Given the description of an element on the screen output the (x, y) to click on. 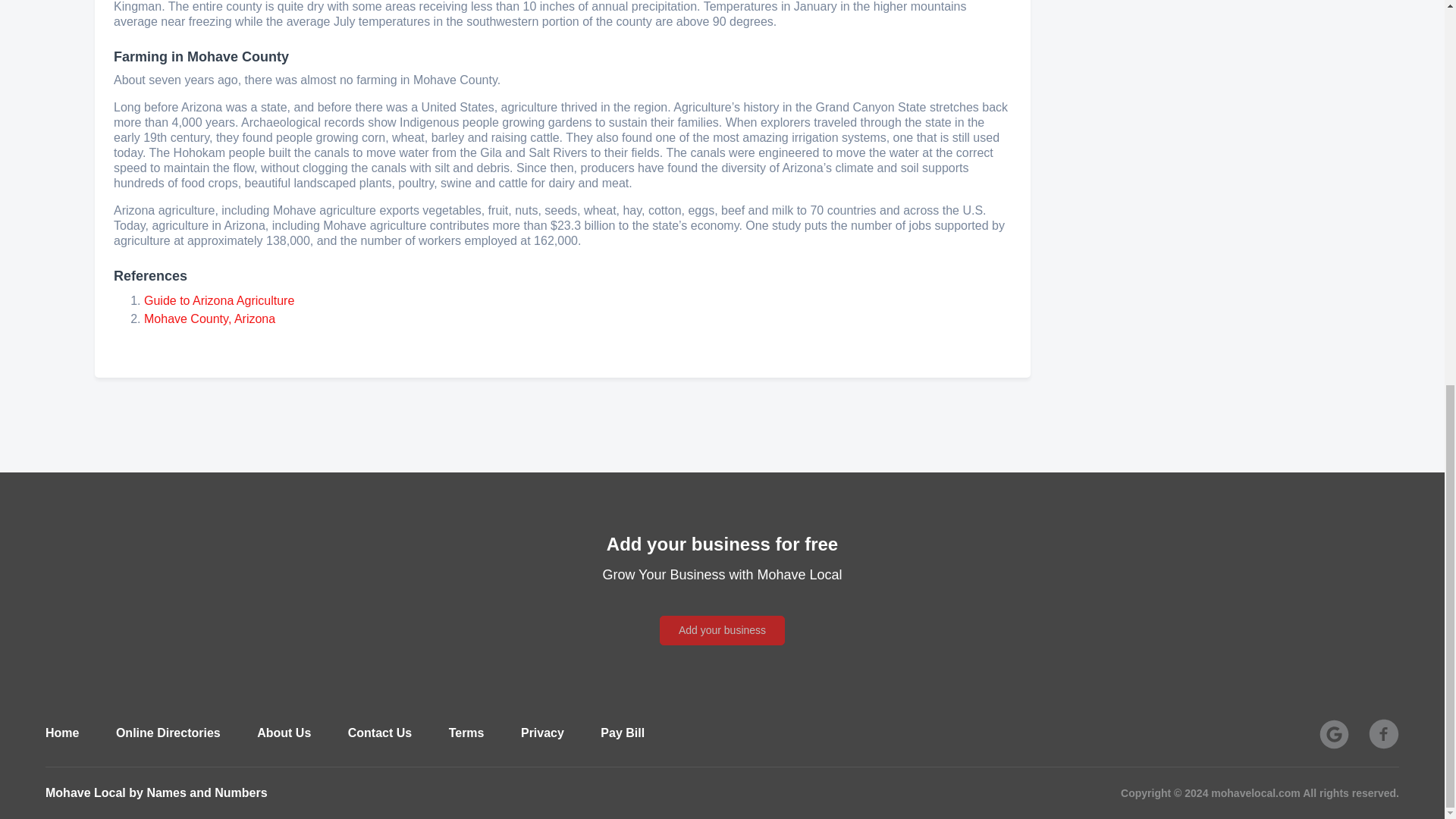
Add your business (721, 612)
Terms (466, 732)
Privacy (542, 732)
Names and Numbers (206, 792)
Home (61, 732)
Add your business (721, 630)
About Us (284, 732)
Mohave County, Arizona (209, 318)
Online Directories (168, 732)
Pay Bill (622, 732)
